Given the description of an element on the screen output the (x, y) to click on. 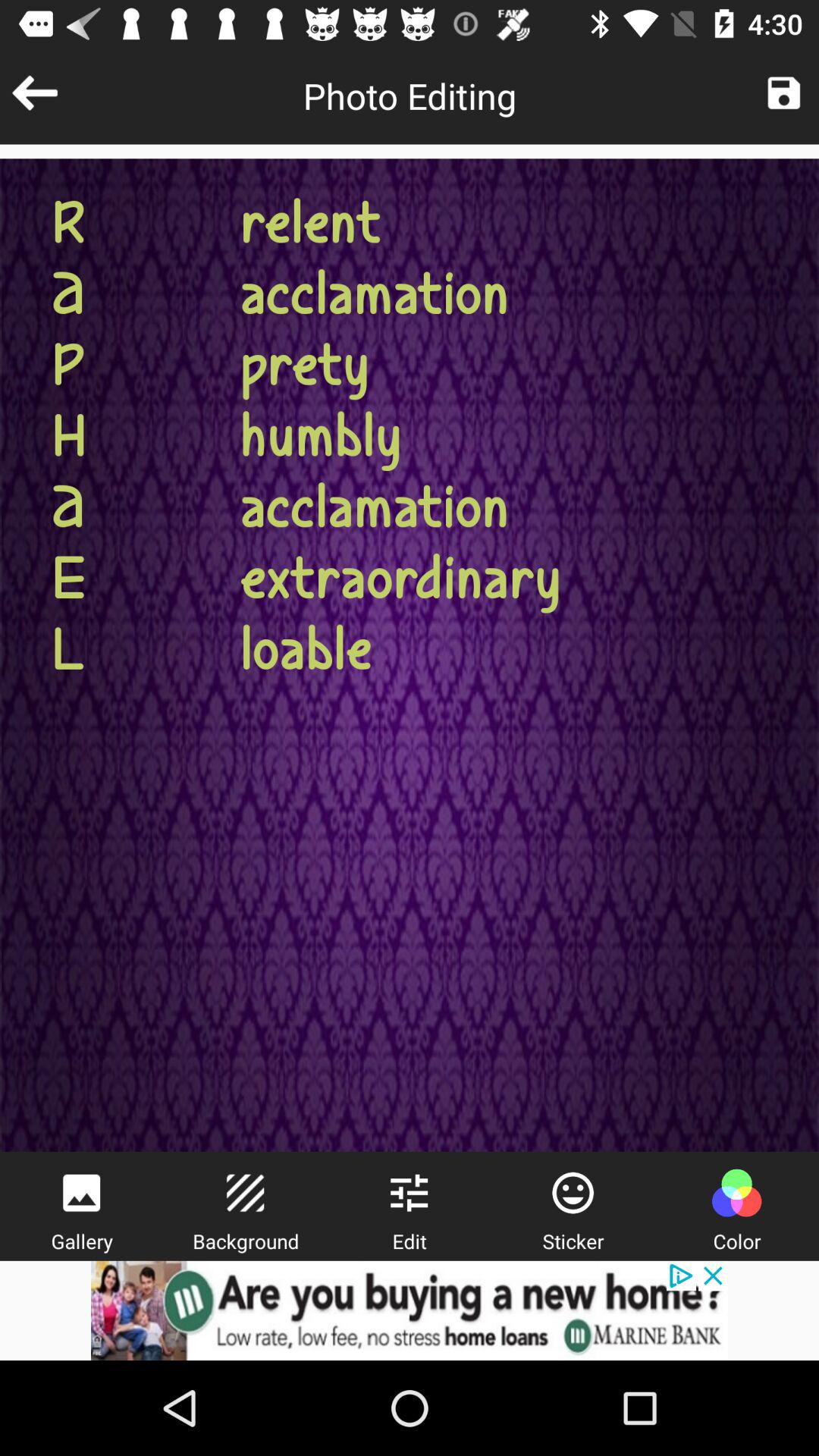
select setting menu (409, 1192)
